Given the description of an element on the screen output the (x, y) to click on. 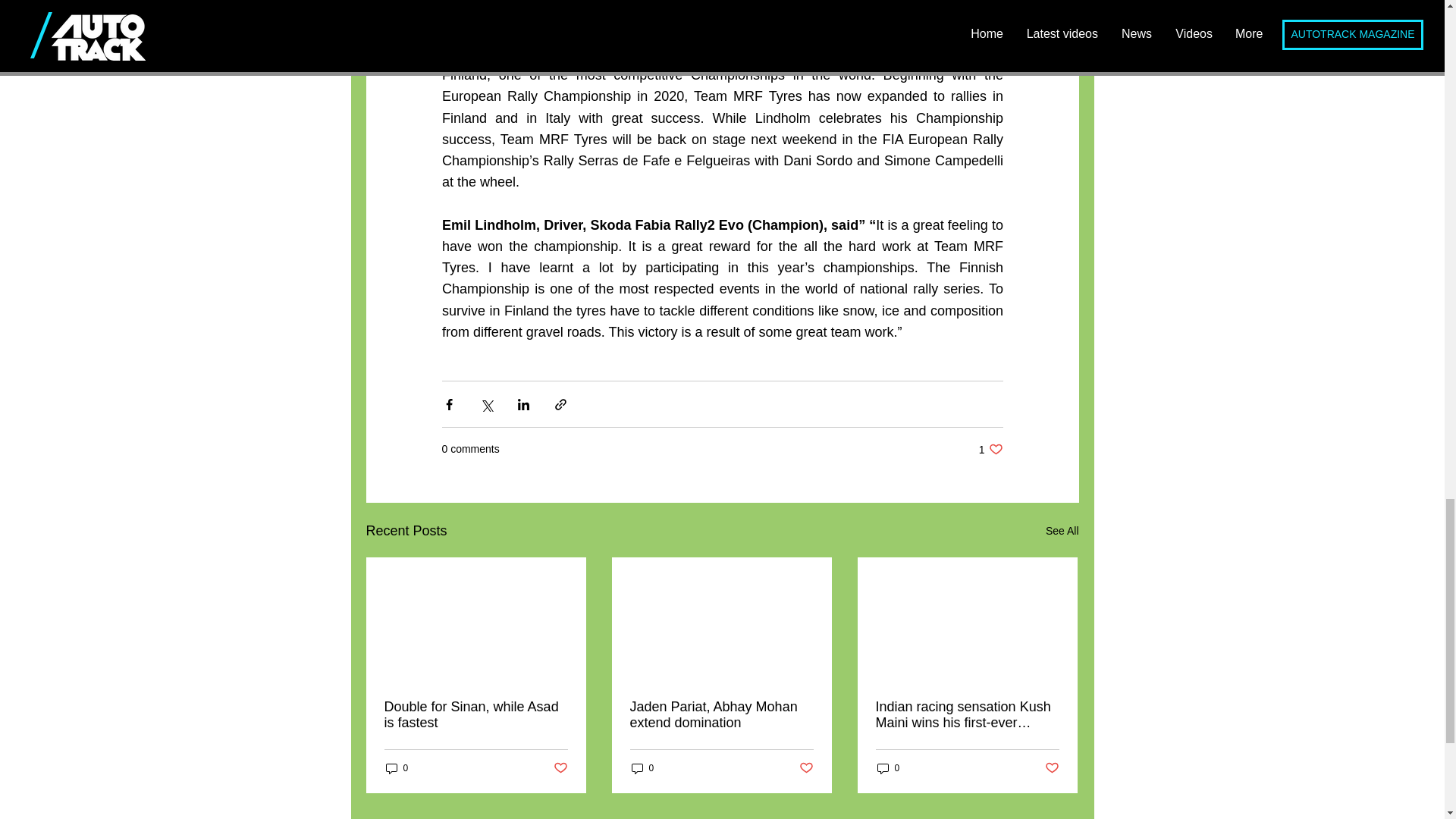
Post not marked as liked (560, 768)
Jaden Pariat, Abhay Mohan extend domination (720, 715)
See All (990, 449)
0 (1061, 531)
Post not marked as liked (396, 768)
0 (1052, 768)
0 (641, 768)
Post not marked as liked (888, 768)
Double for Sinan, while Asad is fastest (806, 768)
